Given the description of an element on the screen output the (x, y) to click on. 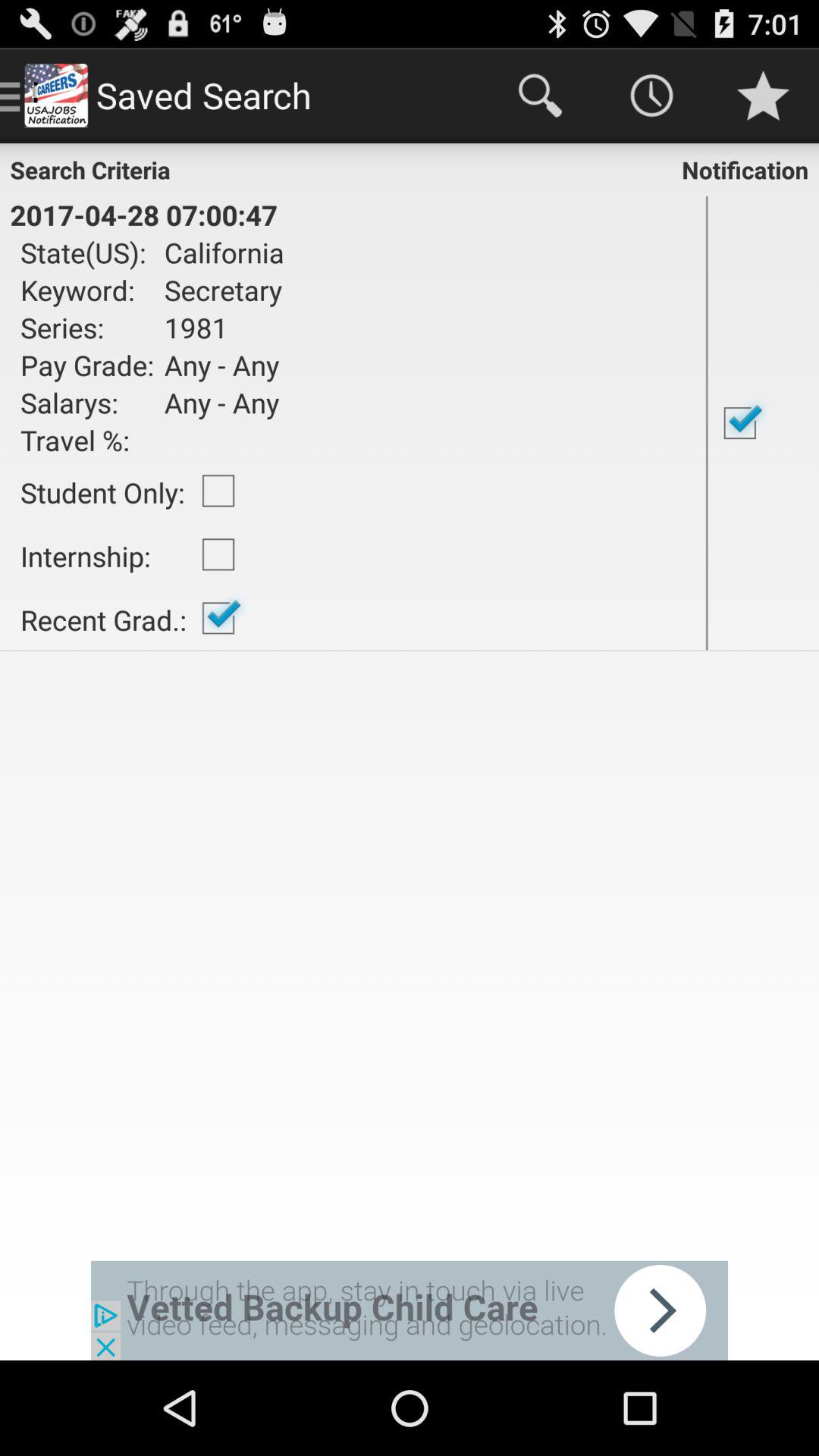
select notification (763, 423)
